Given the description of an element on the screen output the (x, y) to click on. 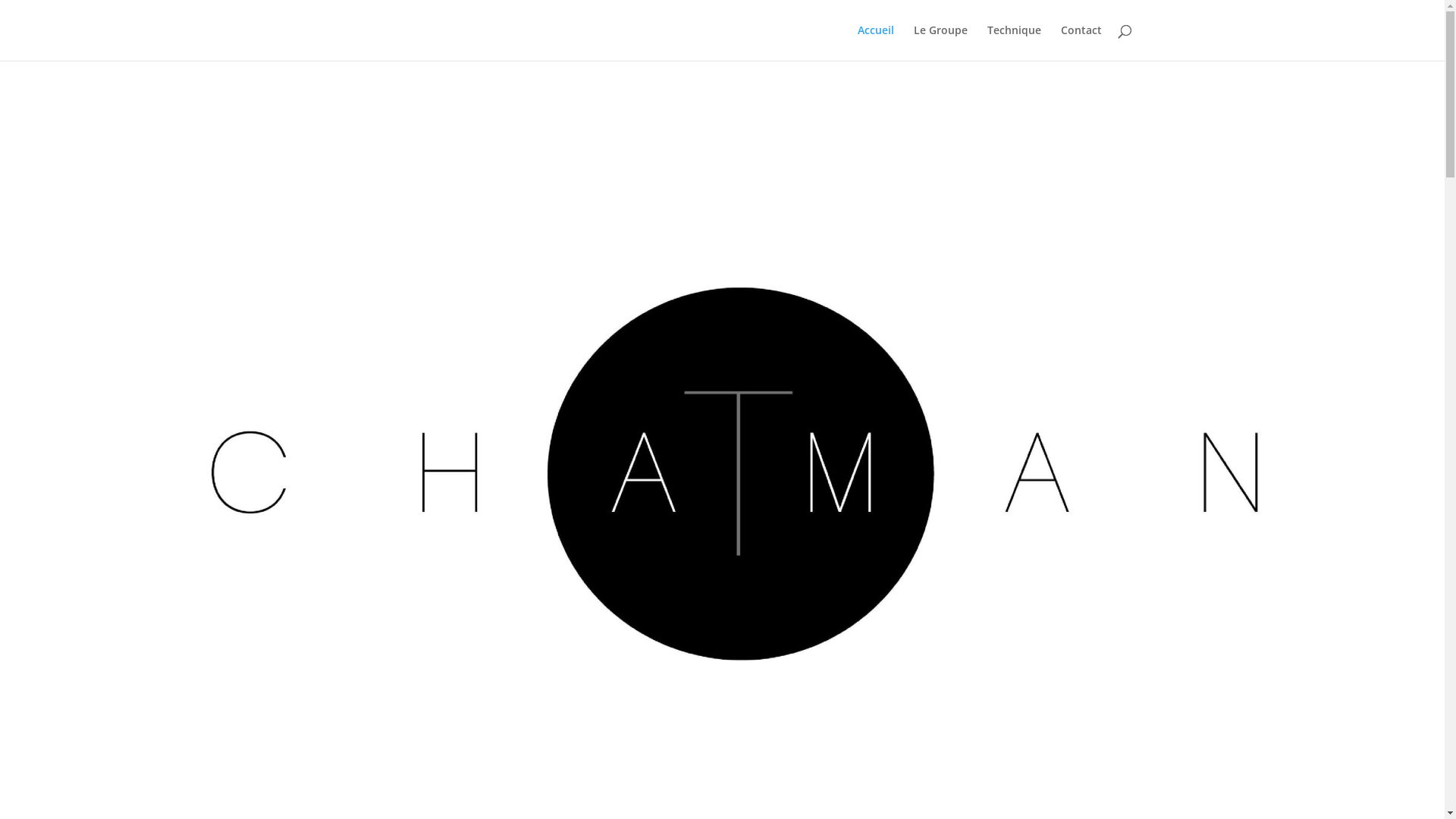
Technique Element type: text (1014, 42)
Accueil Element type: text (874, 42)
Le Groupe Element type: text (939, 42)
Contact Element type: text (1080, 42)
